Given the description of an element on the screen output the (x, y) to click on. 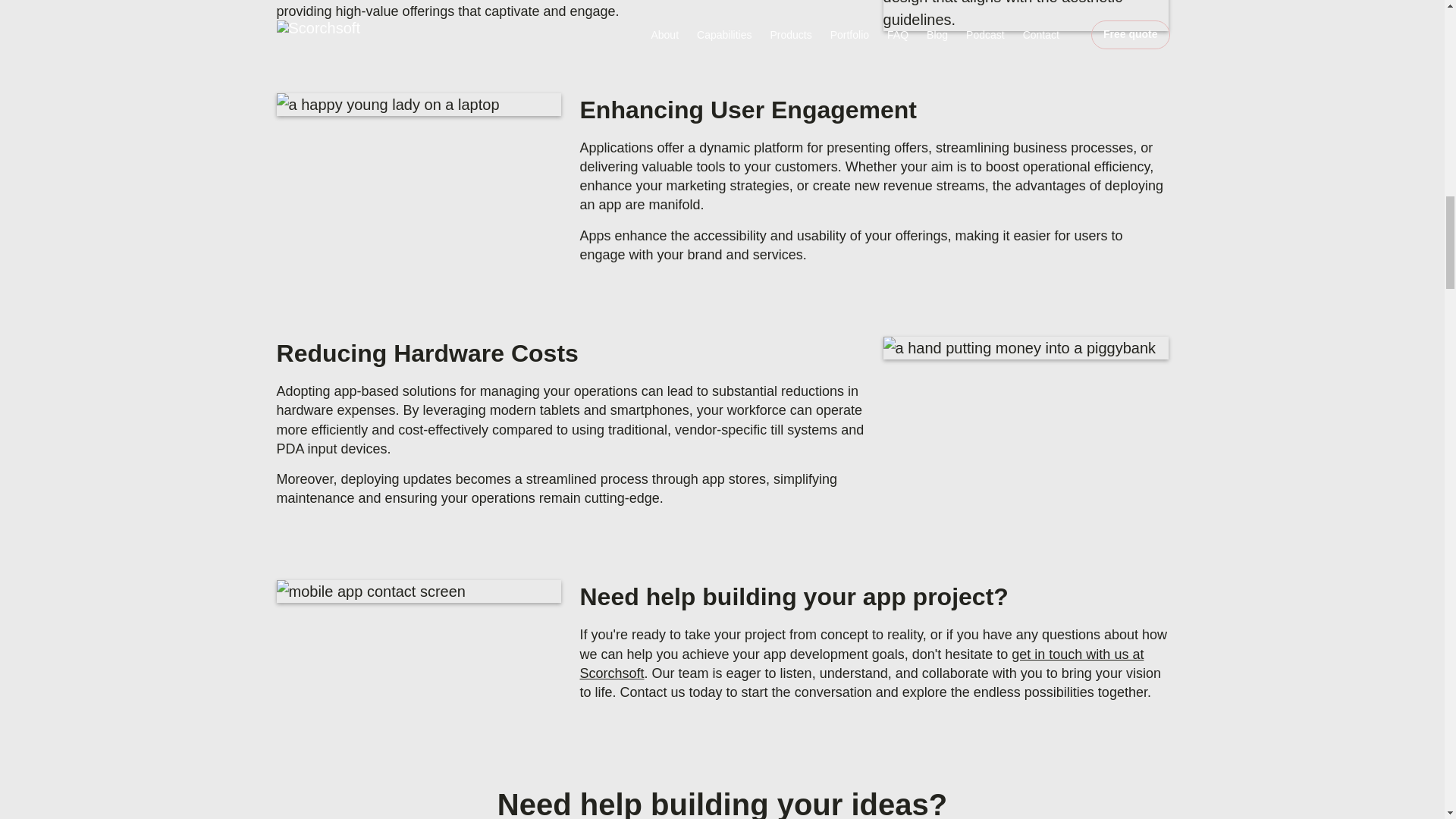
a happy young lady on a laptop (418, 104)
get in touch with us at Scorchsoft (860, 663)
mobile app contact screen (418, 590)
a hand putting money into a piggybank (1026, 347)
